Given the description of an element on the screen output the (x, y) to click on. 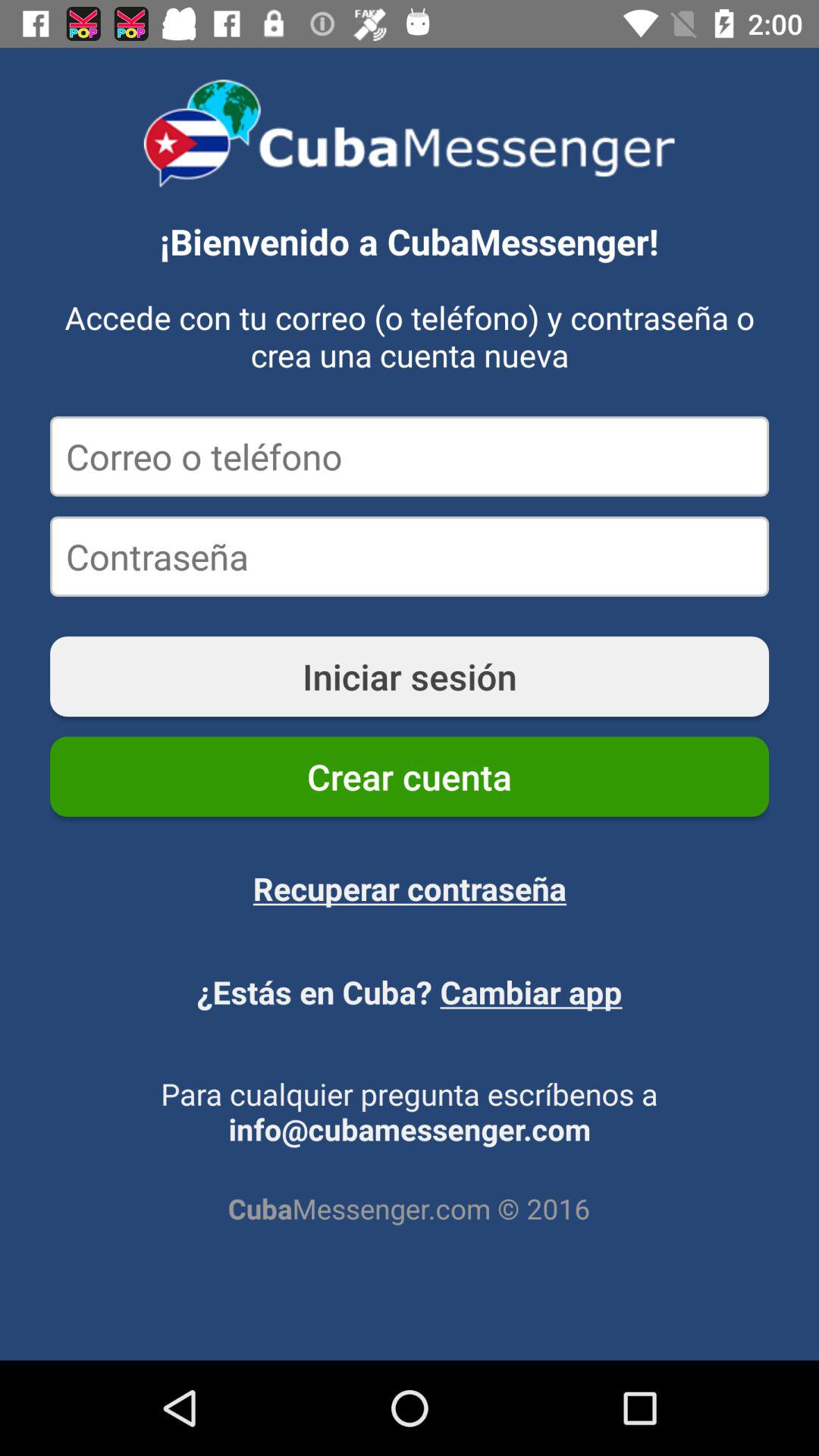
turn on button above the crear cuenta button (409, 676)
